Given the description of an element on the screen output the (x, y) to click on. 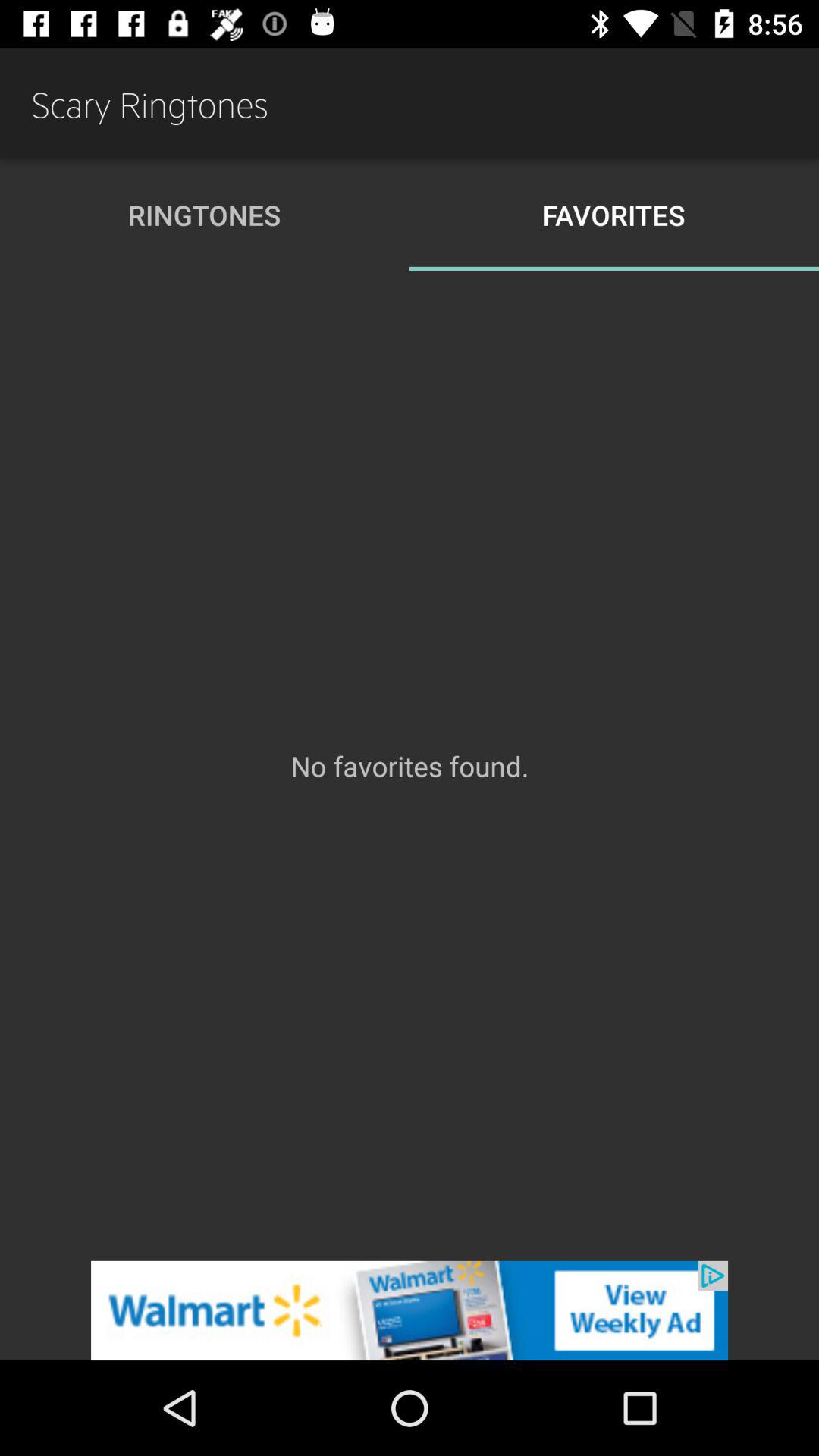
walmart (409, 1310)
